Given the description of an element on the screen output the (x, y) to click on. 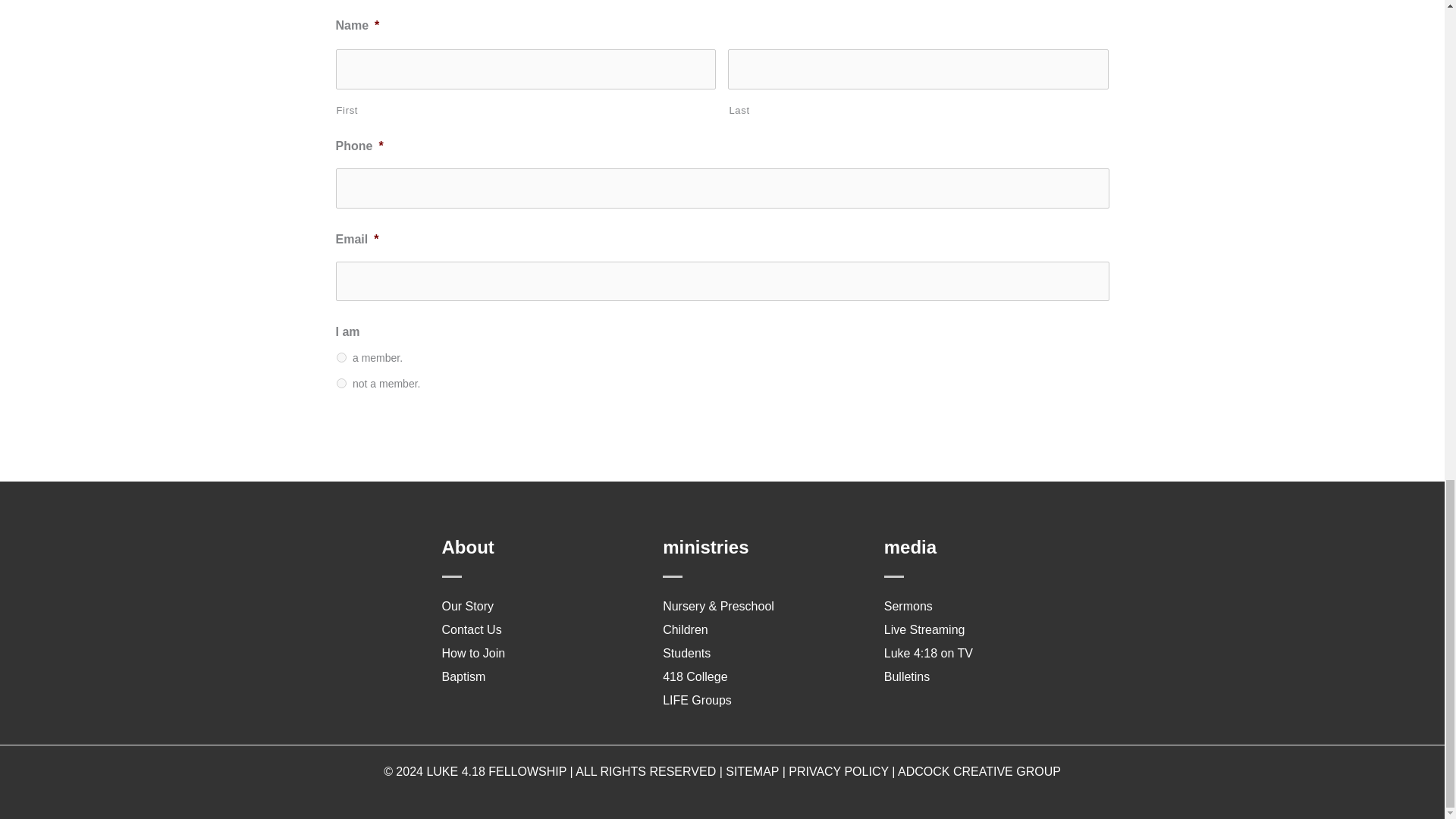
not a member. (341, 383)
a member. (341, 357)
